Given the description of an element on the screen output the (x, y) to click on. 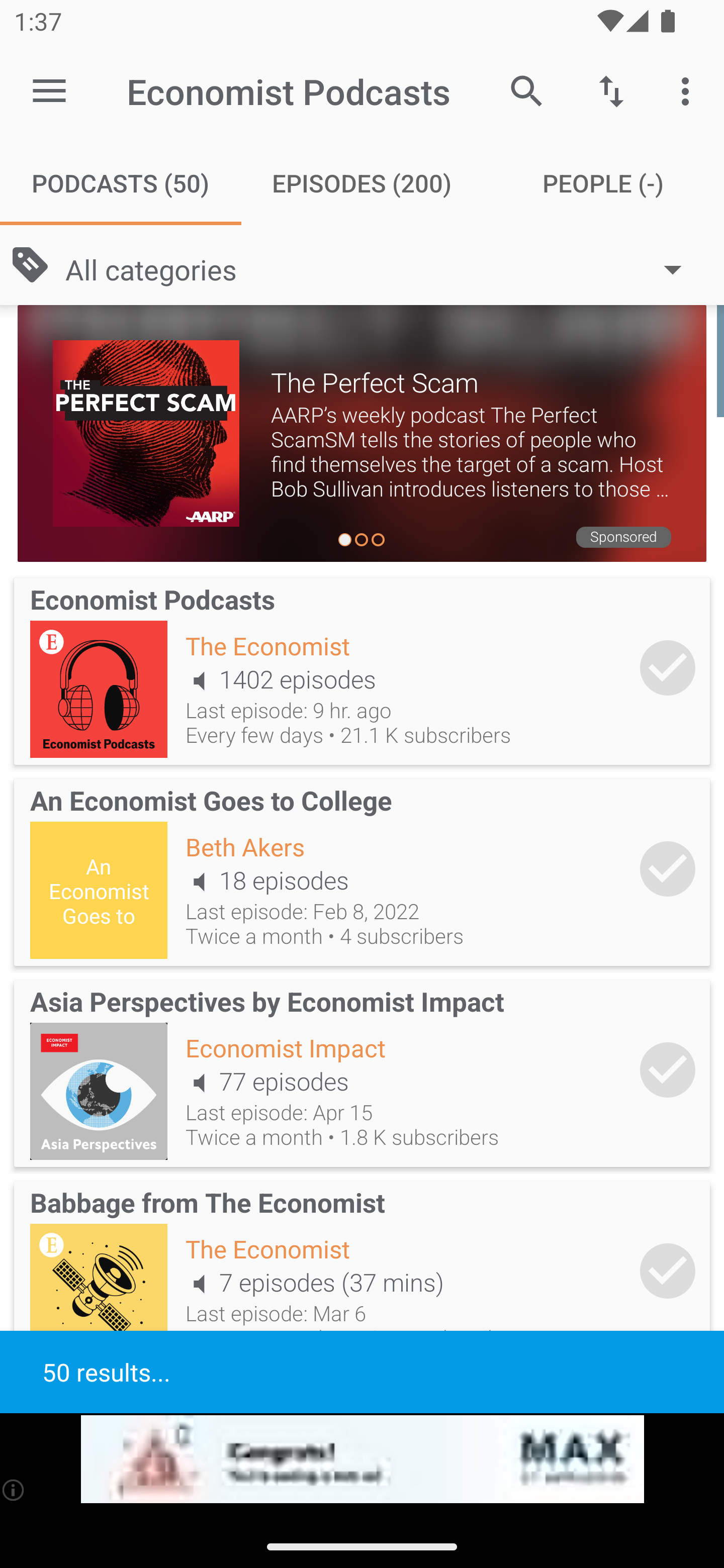
Open navigation sidebar (49, 91)
Search (526, 90)
Sort (611, 90)
More options (688, 90)
Episodes (200) EPISODES (200) (361, 183)
People (-) PEOPLE (-) (603, 183)
All categories (383, 268)
Add (667, 667)
Add (667, 868)
Add (667, 1069)
Add (667, 1271)
app-monetization (362, 1459)
(i) (14, 1489)
